Given the description of an element on the screen output the (x, y) to click on. 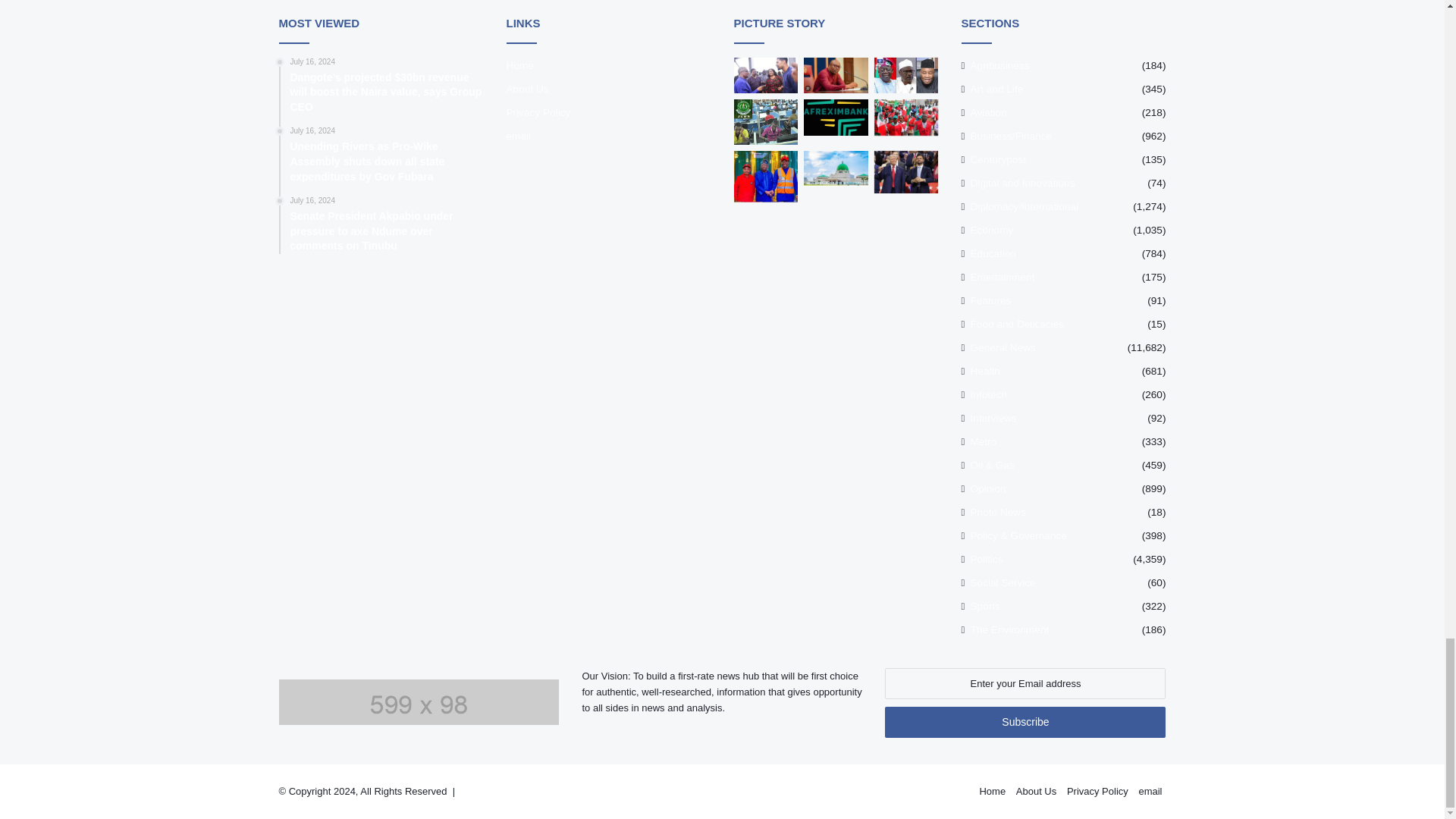
Subscribe (1025, 721)
